Given the description of an element on the screen output the (x, y) to click on. 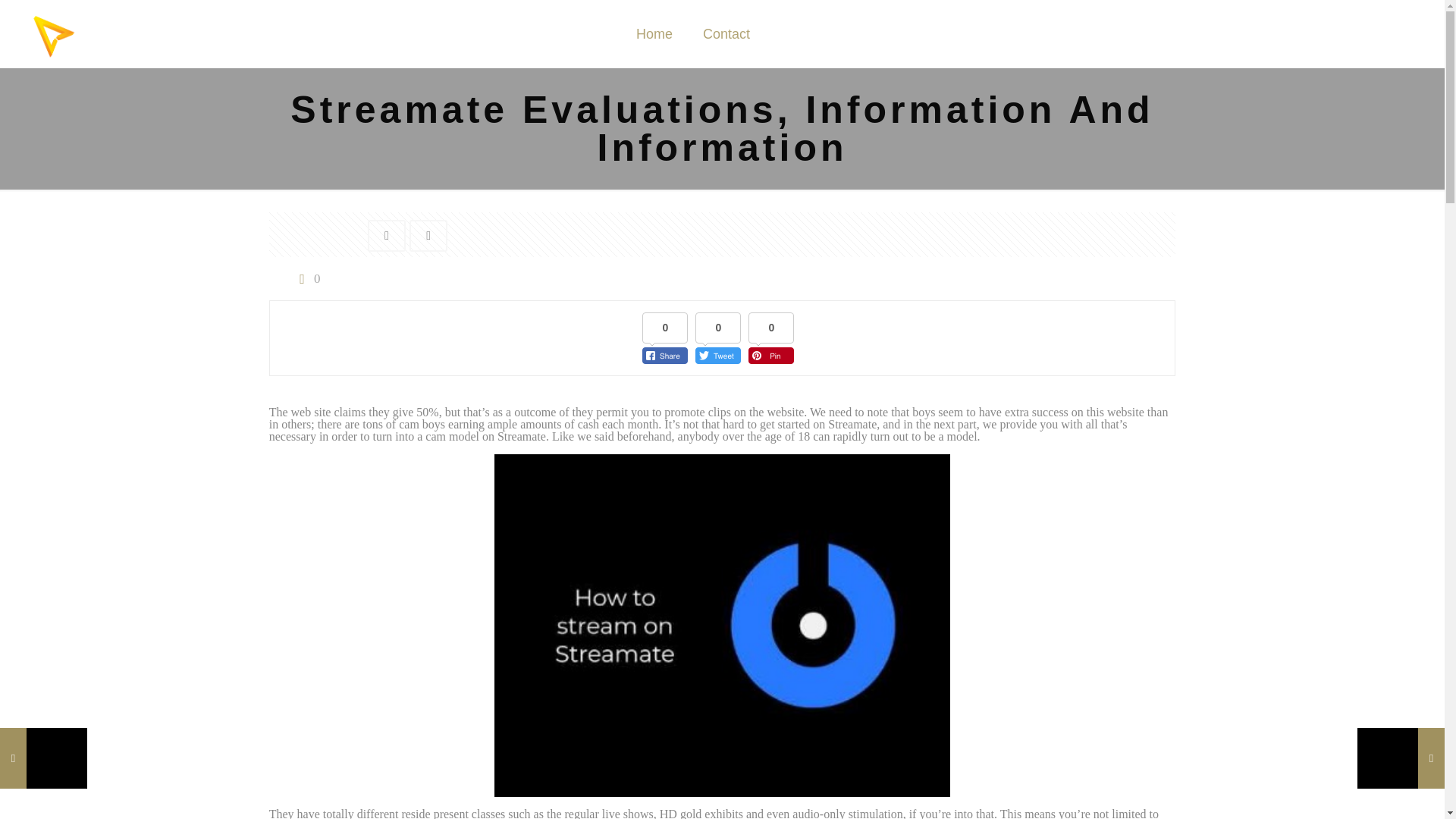
Muffin group (815, 784)
0 (306, 278)
Home (654, 33)
Contact (726, 33)
Itraders (53, 33)
